Given the description of an element on the screen output the (x, y) to click on. 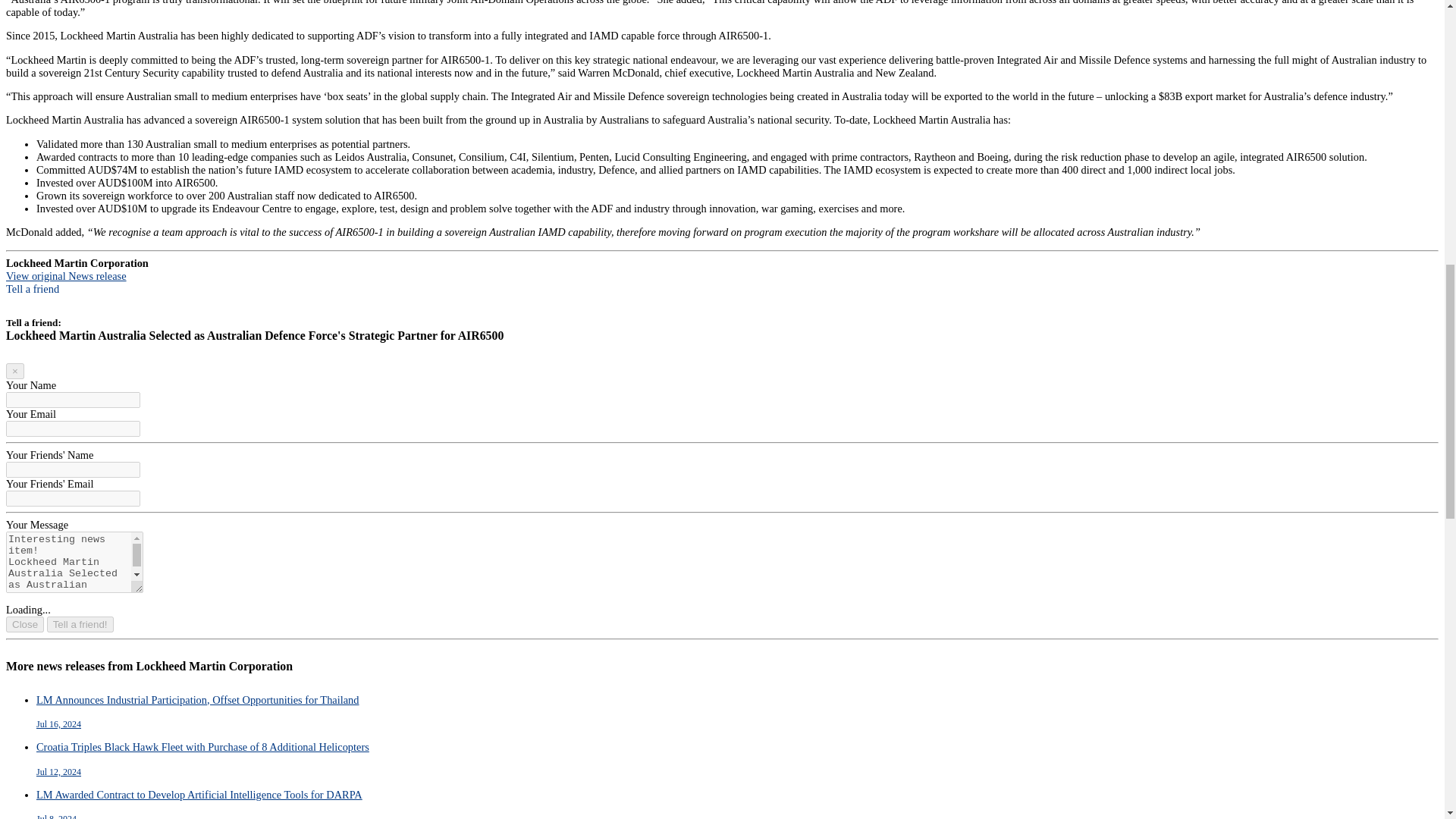
View original News release (65, 275)
Tell a friend (32, 288)
Close (24, 624)
